Given the description of an element on the screen output the (x, y) to click on. 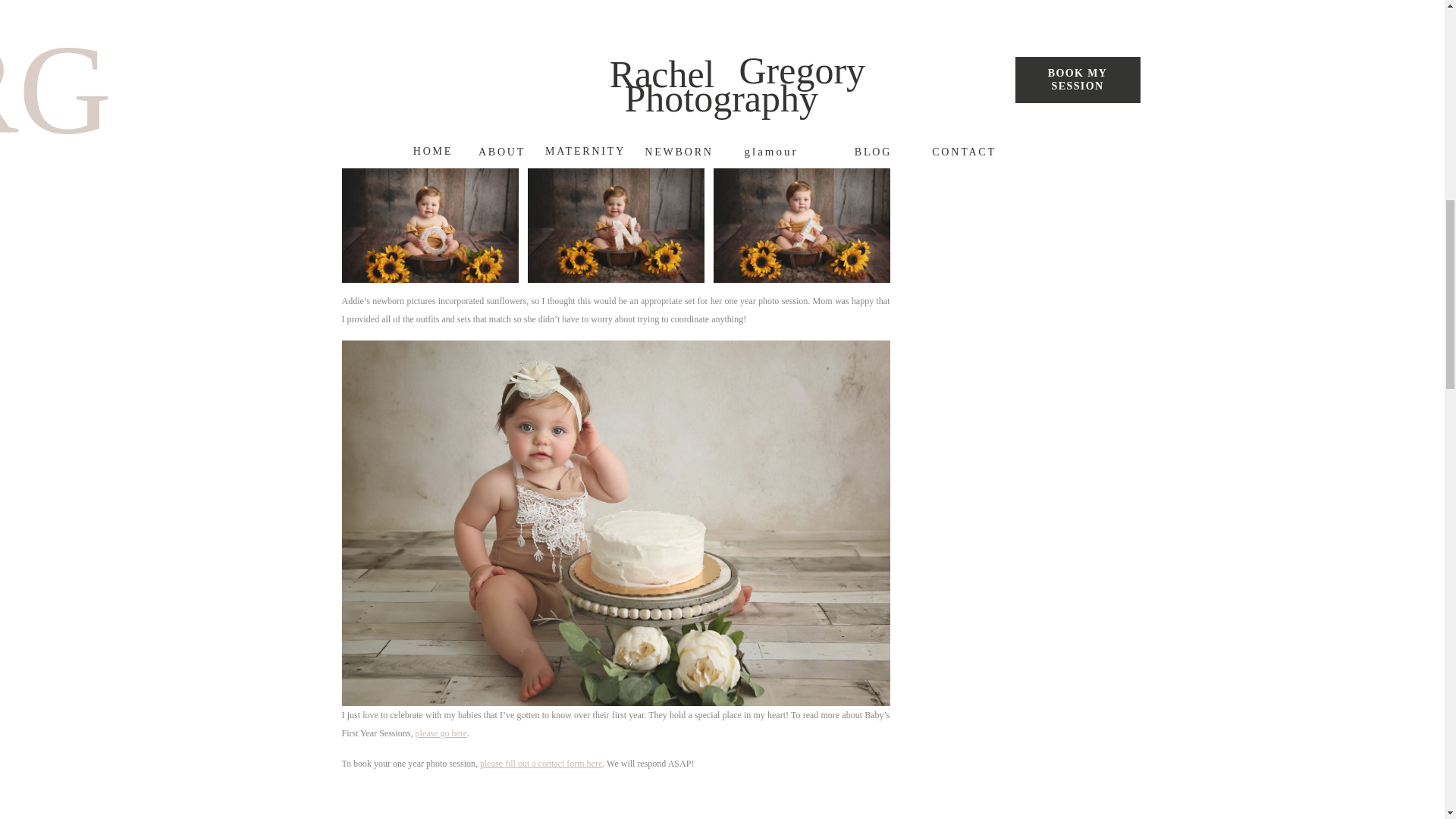
please go here (440, 733)
MILESTONE (1114, 51)
please fill out a contact form here (541, 763)
FAMILY (1016, 50)
